Given the description of an element on the screen output the (x, y) to click on. 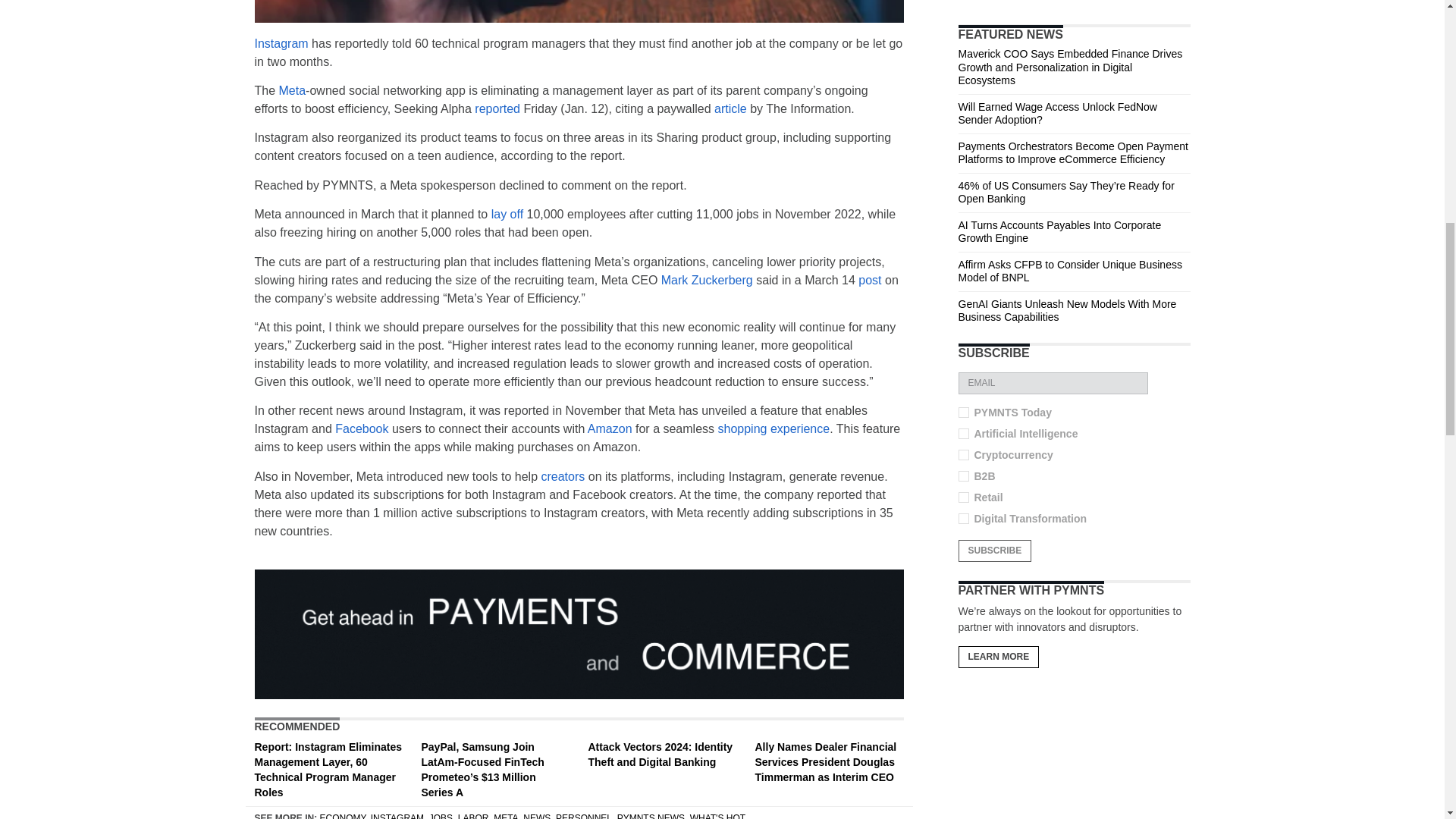
1 (963, 518)
1 (963, 412)
1 (963, 433)
1 (963, 475)
1 (963, 454)
1 (963, 497)
